Given the description of an element on the screen output the (x, y) to click on. 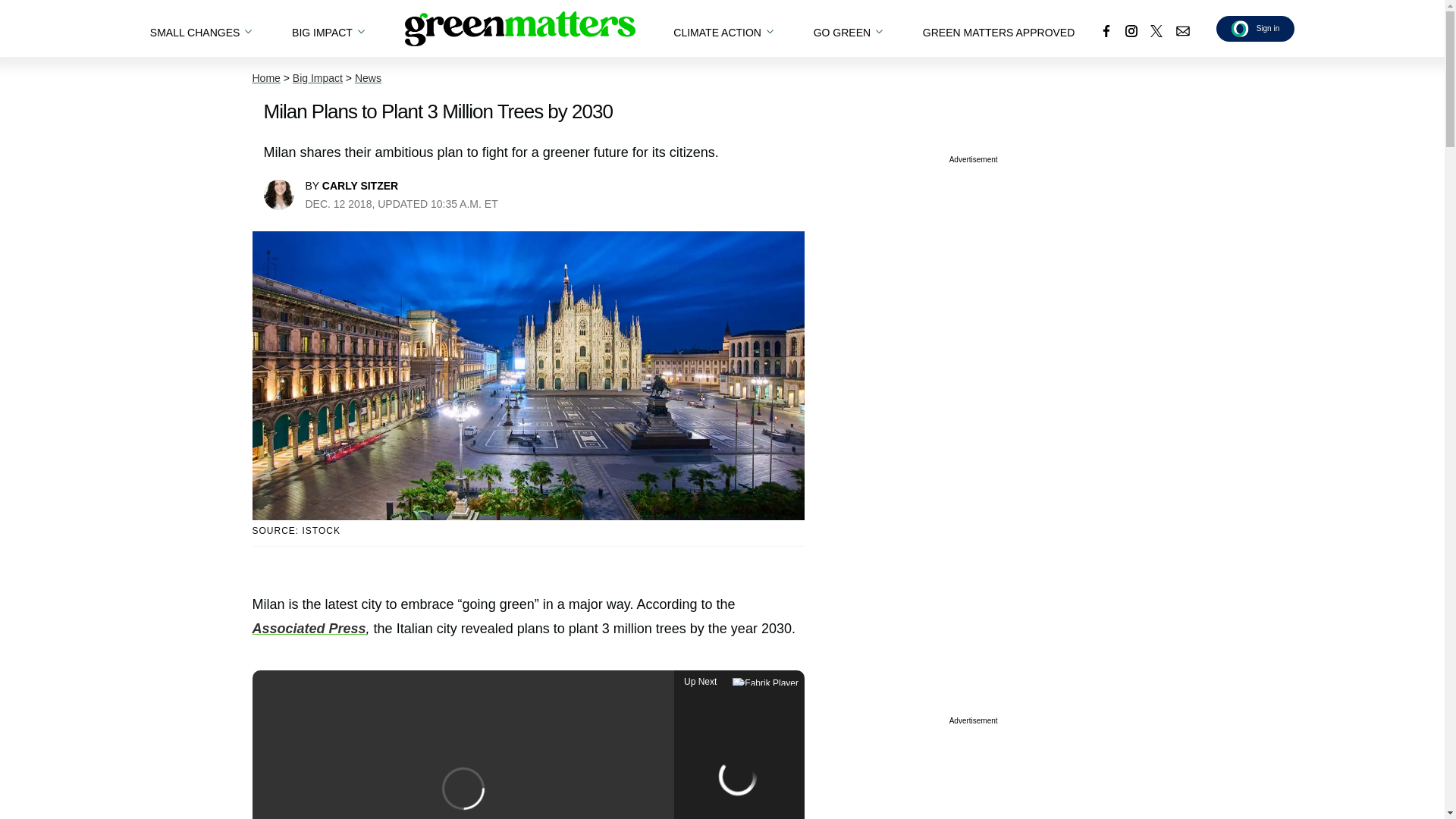
LINK TO EMAIL SUBSCRIBE (1182, 30)
OpenPass Logo (1240, 27)
GREEN MATTERS APPROVED (998, 27)
Sign in (1255, 27)
LINK TO INSTAGRAM (1131, 30)
LINK TO FACEBOOK (1106, 30)
LINK TO X (1155, 30)
